Given the description of an element on the screen output the (x, y) to click on. 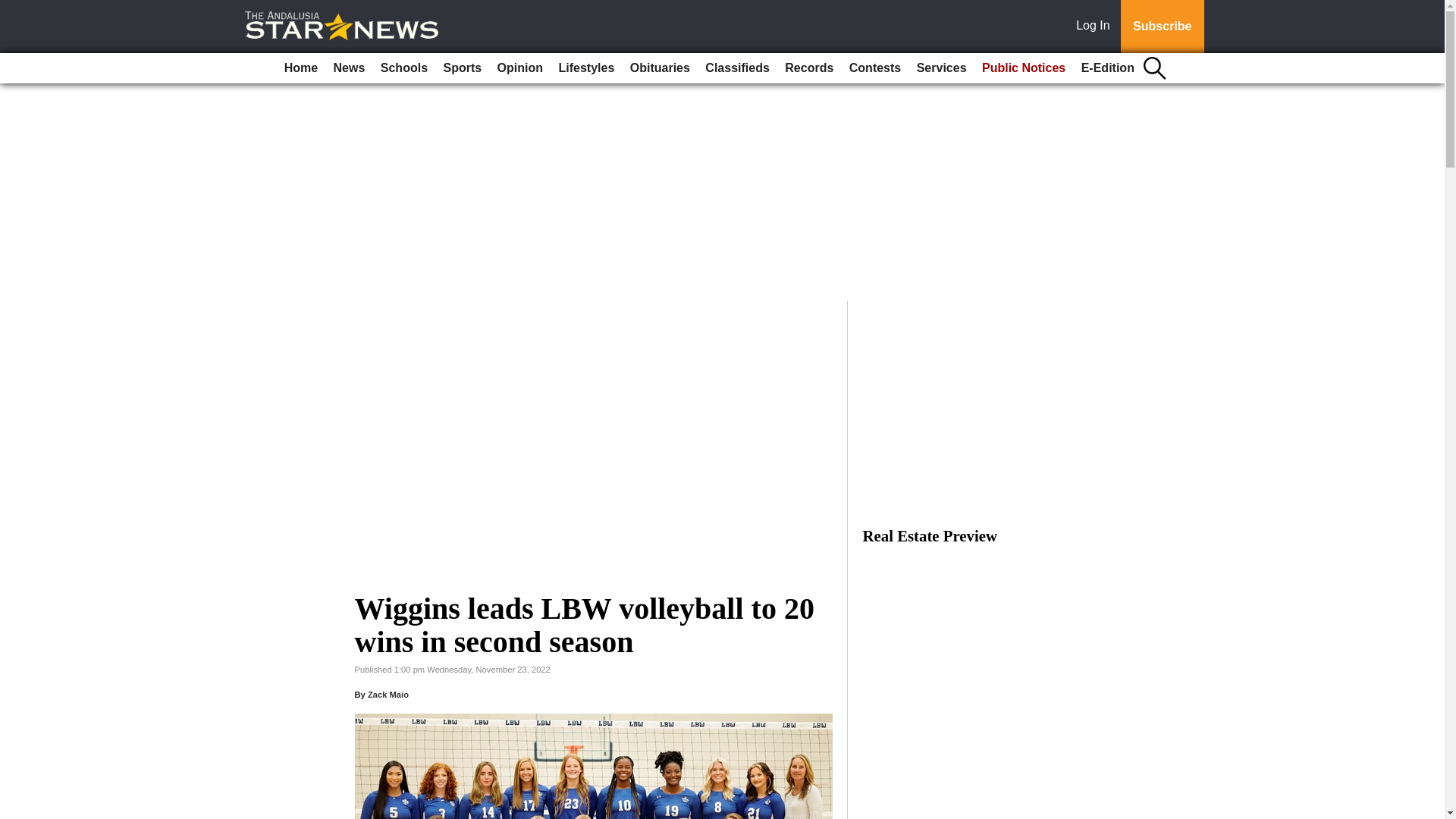
Public Notices (1023, 68)
Sports (461, 68)
Classifieds (736, 68)
Go (13, 9)
News (349, 68)
Zack Maio (388, 694)
Schools (403, 68)
Obituaries (659, 68)
Subscribe (1162, 26)
Home (300, 68)
Log In (1095, 26)
Services (941, 68)
Contests (875, 68)
Records (809, 68)
E-Edition (1107, 68)
